Given the description of an element on the screen output the (x, y) to click on. 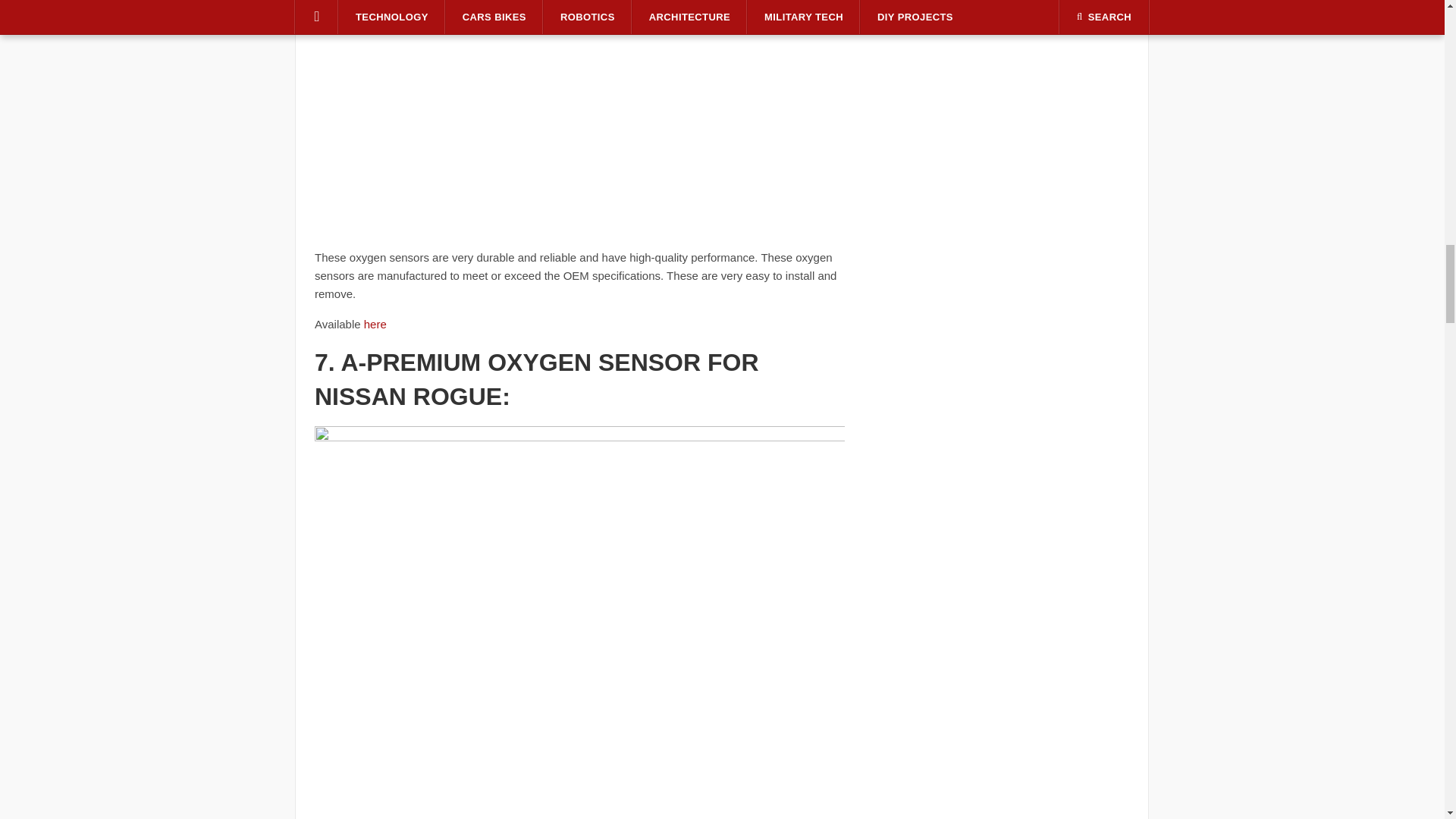
here (375, 323)
